Given the description of an element on the screen output the (x, y) to click on. 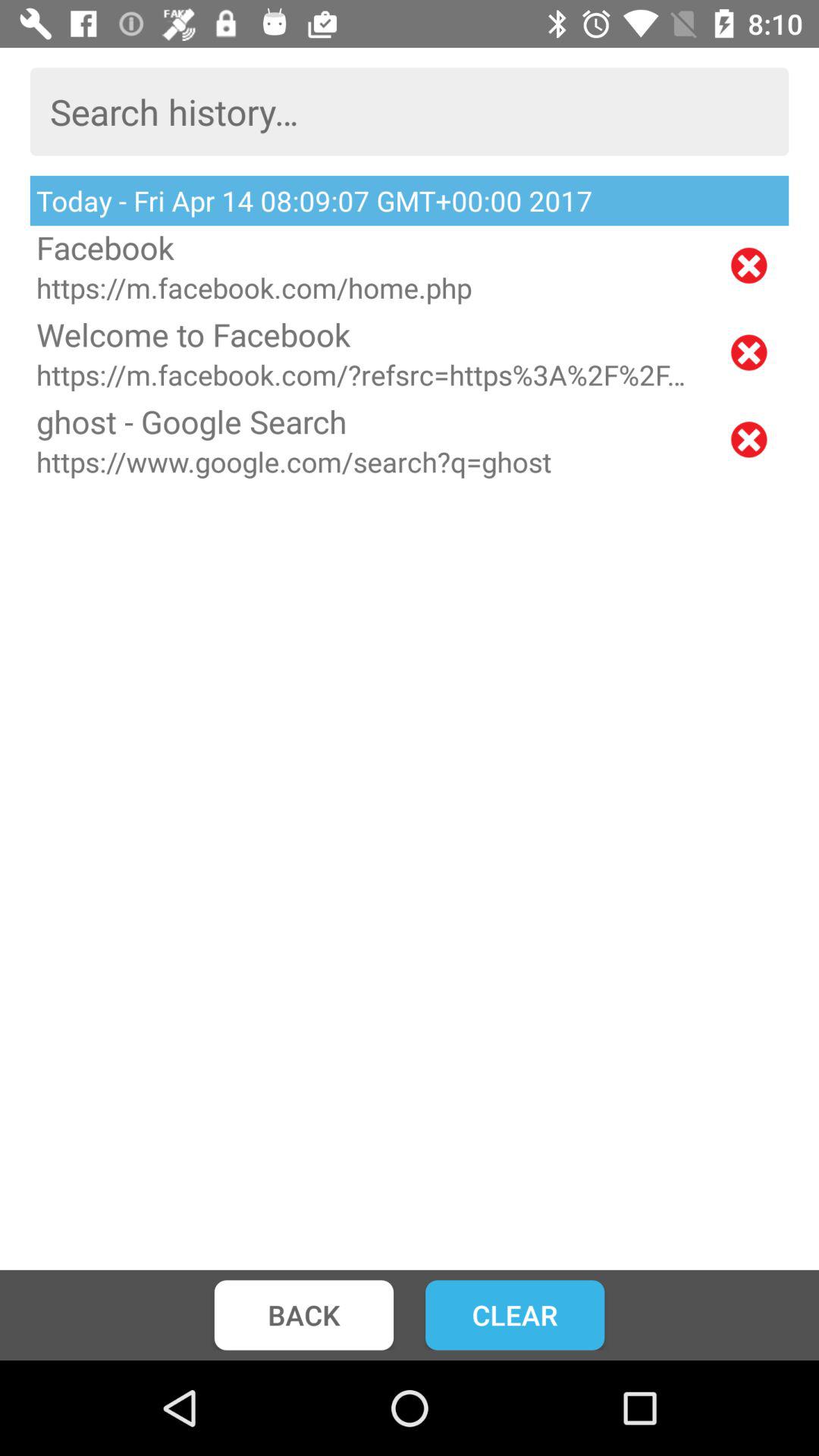
history delete button (748, 352)
